Given the description of an element on the screen output the (x, y) to click on. 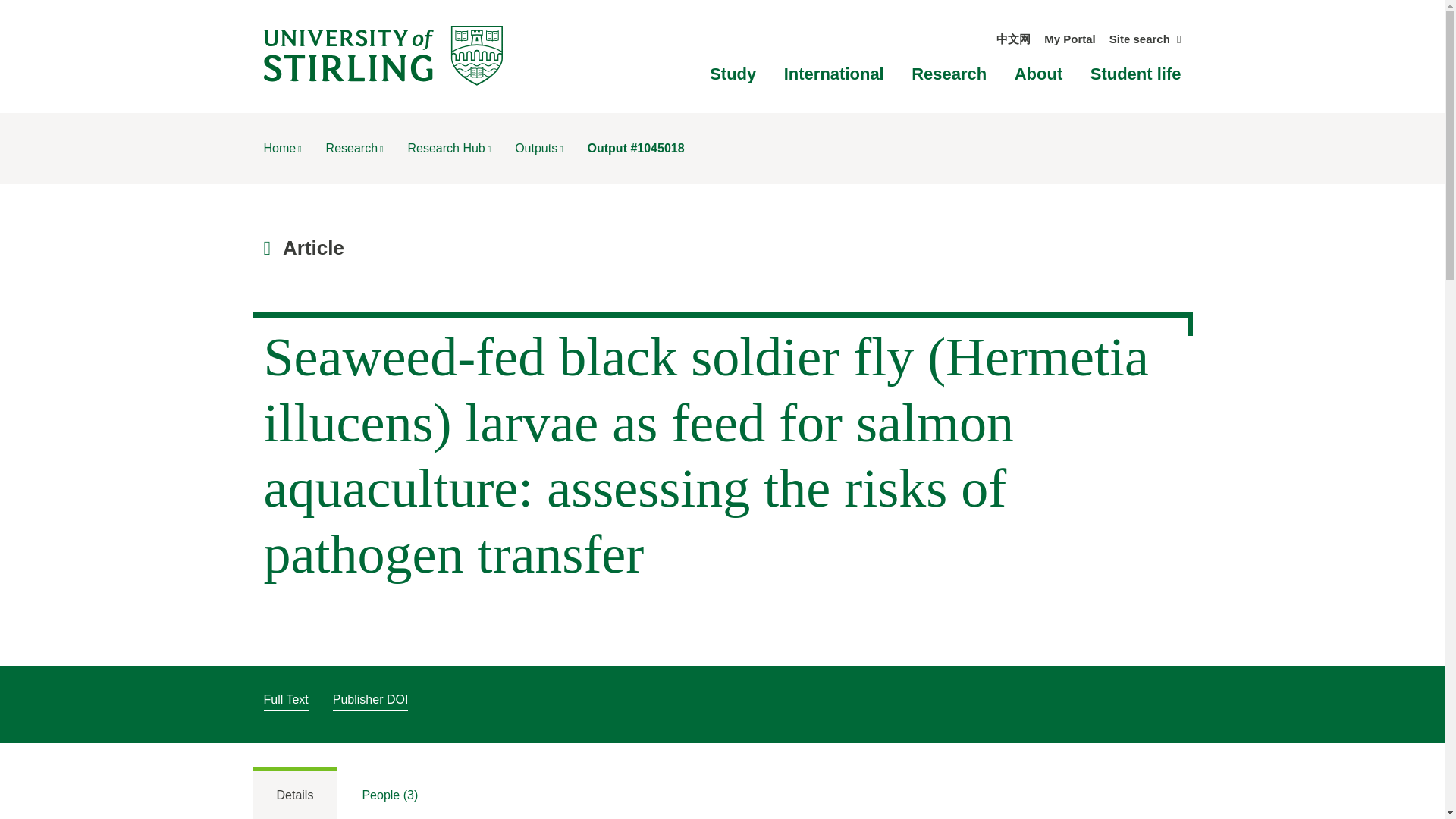
Site search (1144, 38)
Home (282, 147)
International (833, 73)
Research (949, 73)
Research (355, 147)
About (1038, 73)
Research Hub (448, 147)
Student life (1135, 73)
University of Stirling (382, 54)
Study (732, 73)
